Given the description of an element on the screen output the (x, y) to click on. 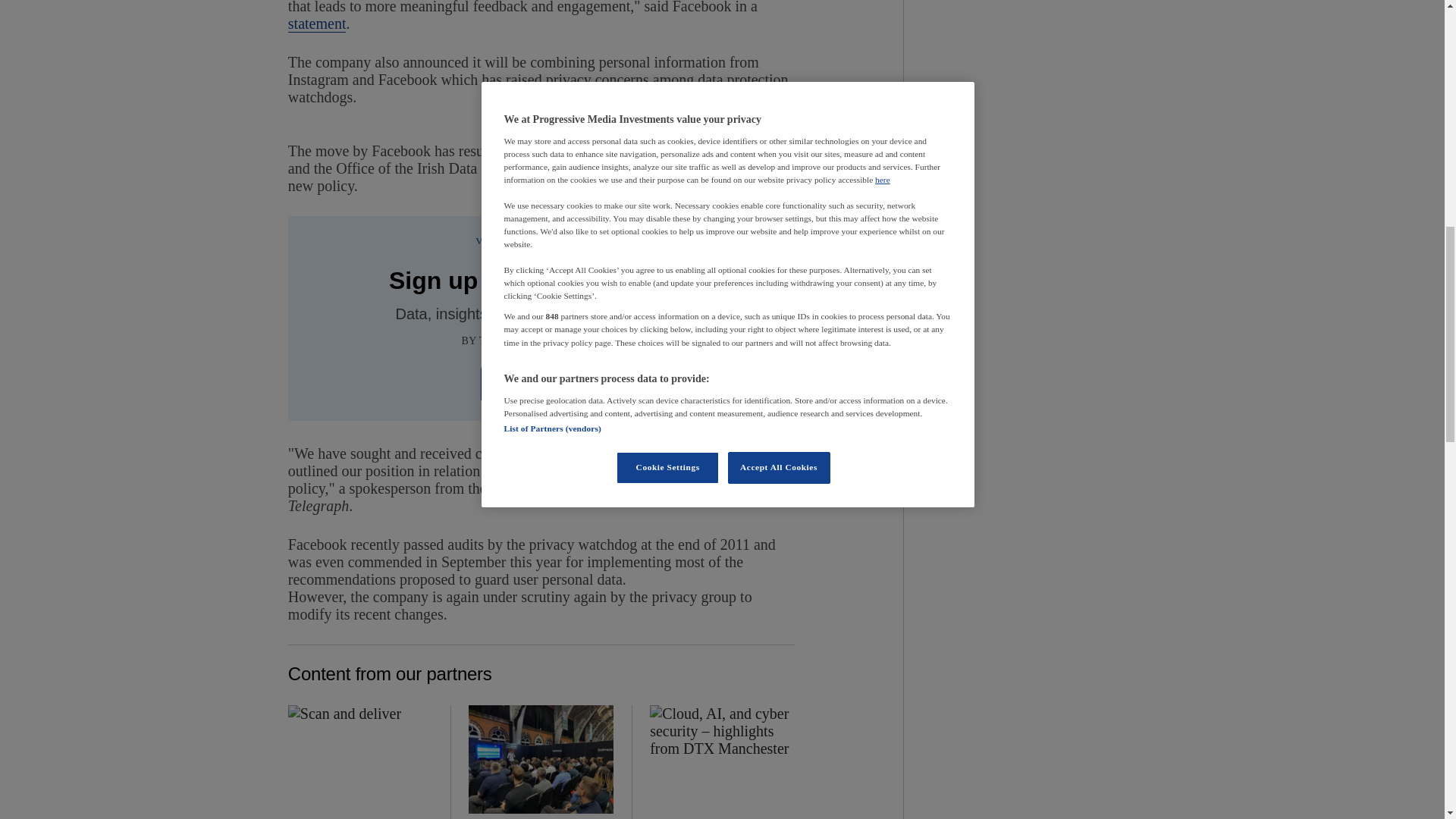
Scan and deliver (360, 759)
